Given the description of an element on the screen output the (x, y) to click on. 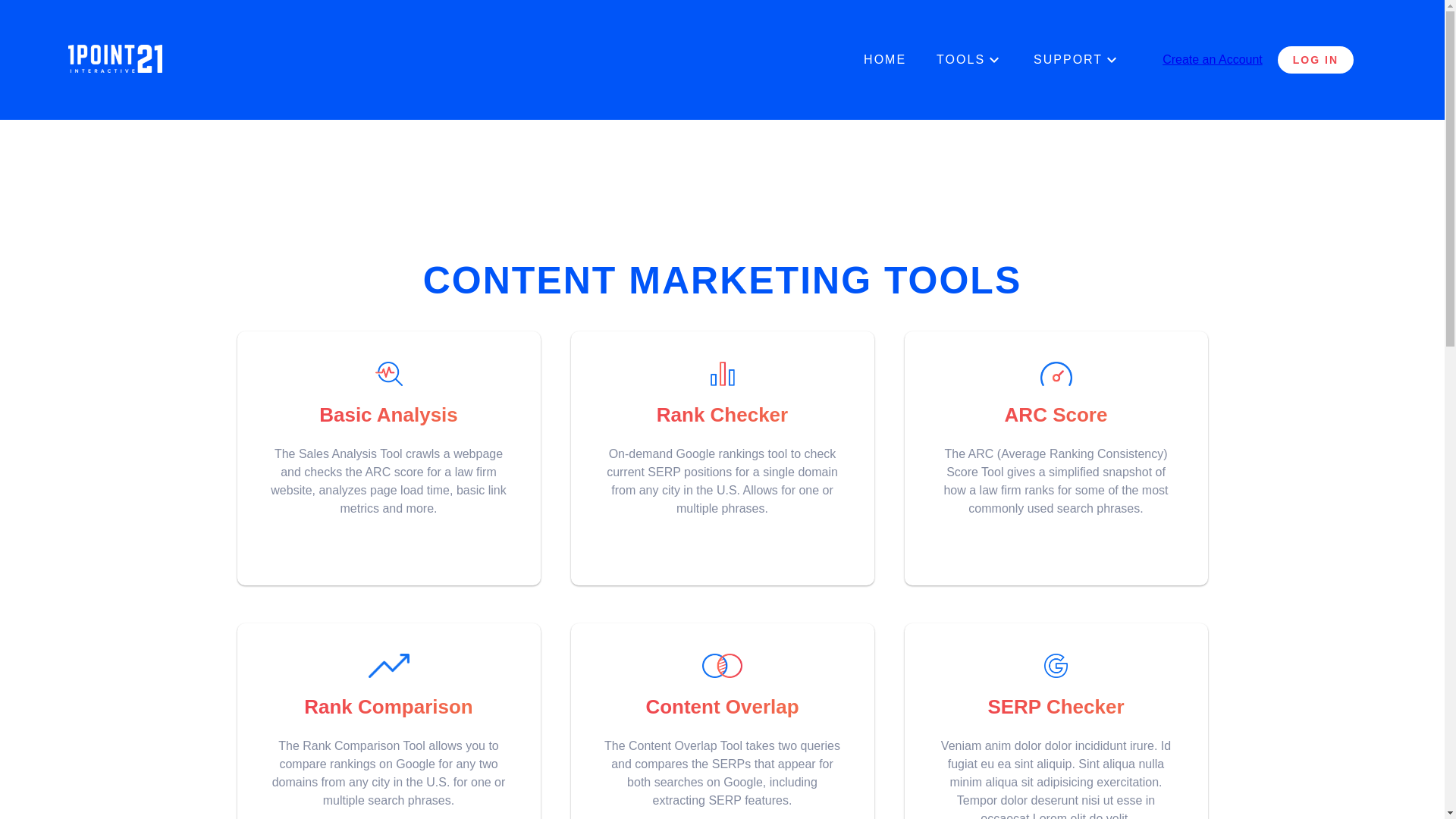
HOME Element type: text (884, 59)
TOOLS
expand_more Element type: text (969, 59)
LOG IN Element type: text (1315, 59)
SUPPORT
expand_more Element type: text (1076, 59)
Create an Account Element type: text (1212, 59)
